Given the description of an element on the screen output the (x, y) to click on. 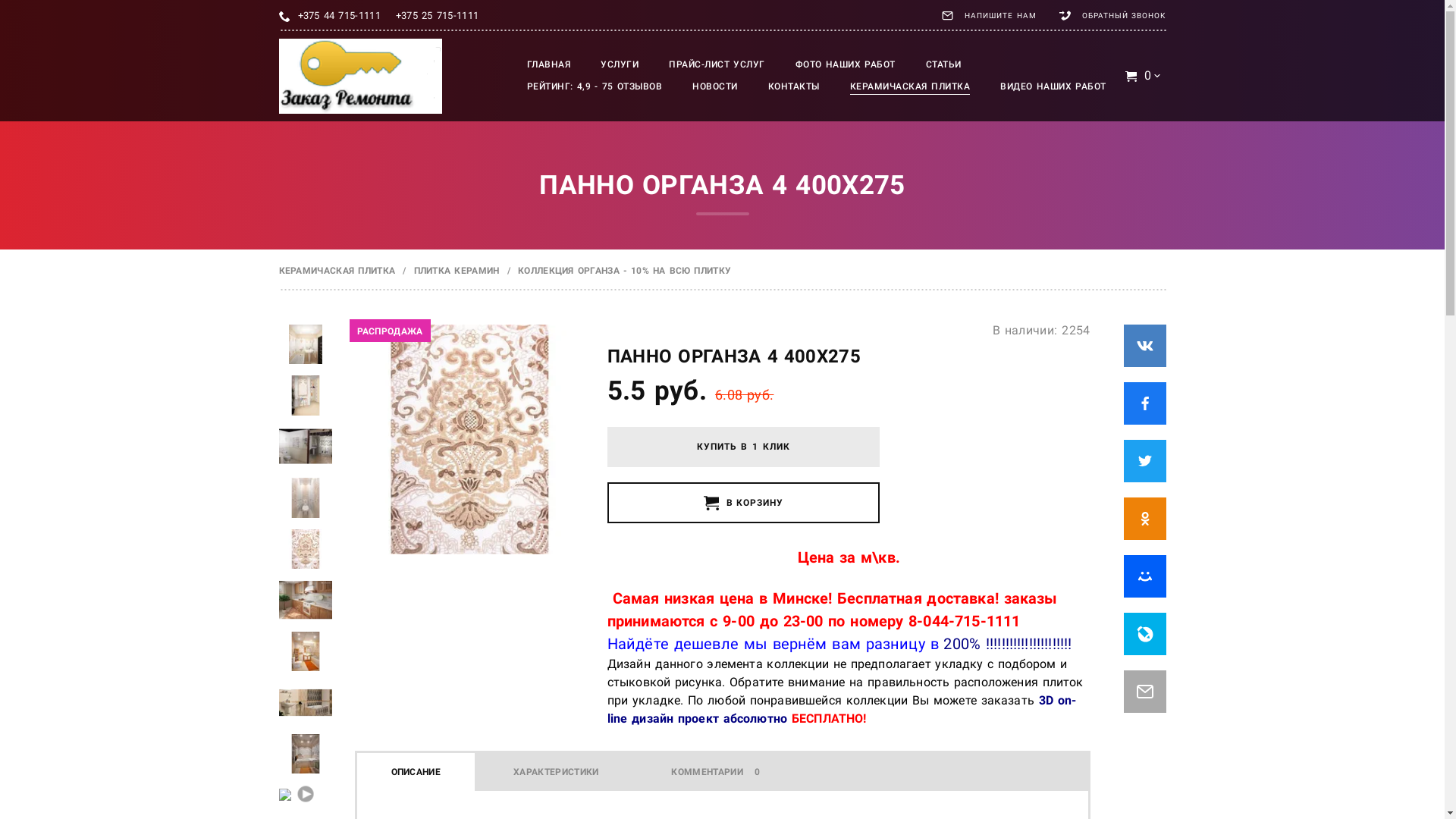
share_link_odnoklassniki Element type: hover (1144, 518)
share_link_facebook Element type: hover (1144, 403)
+375 25 715-1111 Element type: text (437, 15)
0 Element type: text (1144, 75)
share_link_mymir Element type: hover (1144, 576)
share_link_livejournal Element type: hover (1144, 633)
share_link_twitter Element type: hover (1144, 460)
+375 44 715-1111 Element type: text (338, 15)
share_link_vk Element type: hover (1144, 345)
